Given the description of an element on the screen output the (x, y) to click on. 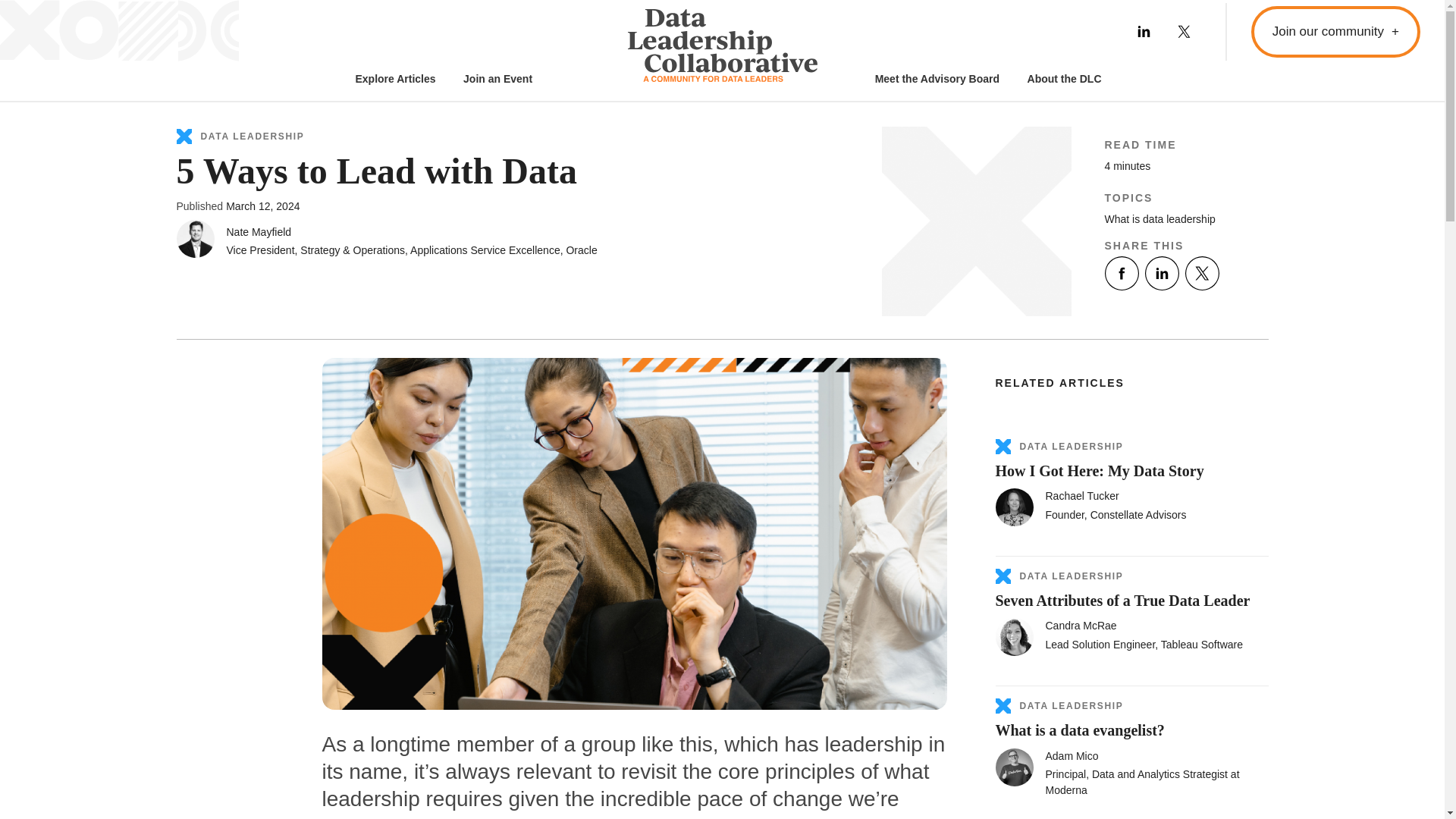
Join an Event (497, 73)
LinkedIn (1140, 31)
Meet the Advisory Board (936, 73)
Explore Articles (395, 73)
Join our community (1335, 31)
X (1197, 273)
Facebook (1120, 273)
X (1180, 31)
LinkedIn (1158, 273)
Home (721, 48)
About the DLC (1064, 73)
